Given the description of an element on the screen output the (x, y) to click on. 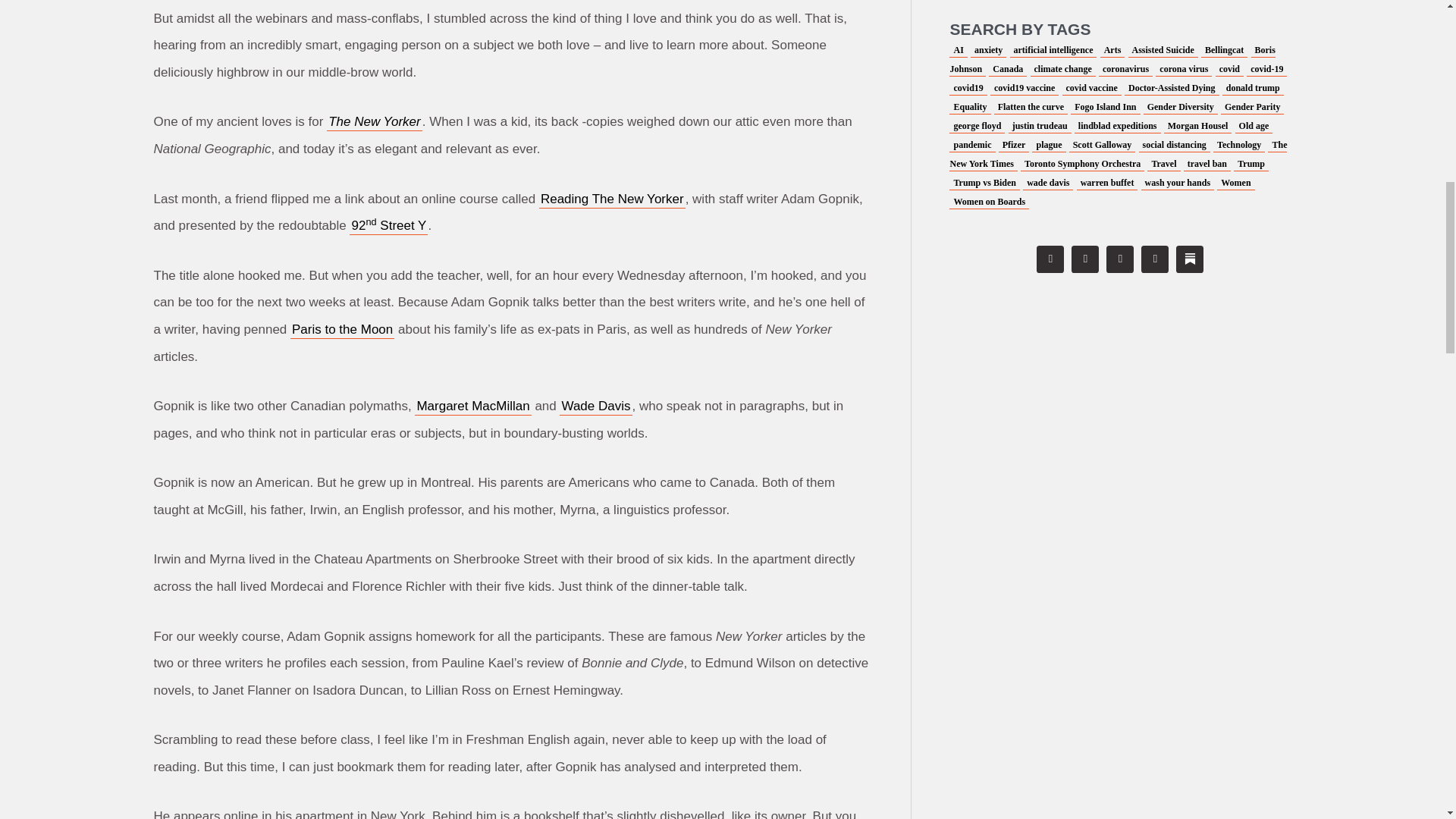
Paris to the Moon (341, 330)
Reading The New Yorker (611, 198)
92nd Street Y (388, 226)
The New Yorker (374, 122)
Margaret MacMillan (472, 406)
